Given the description of an element on the screen output the (x, y) to click on. 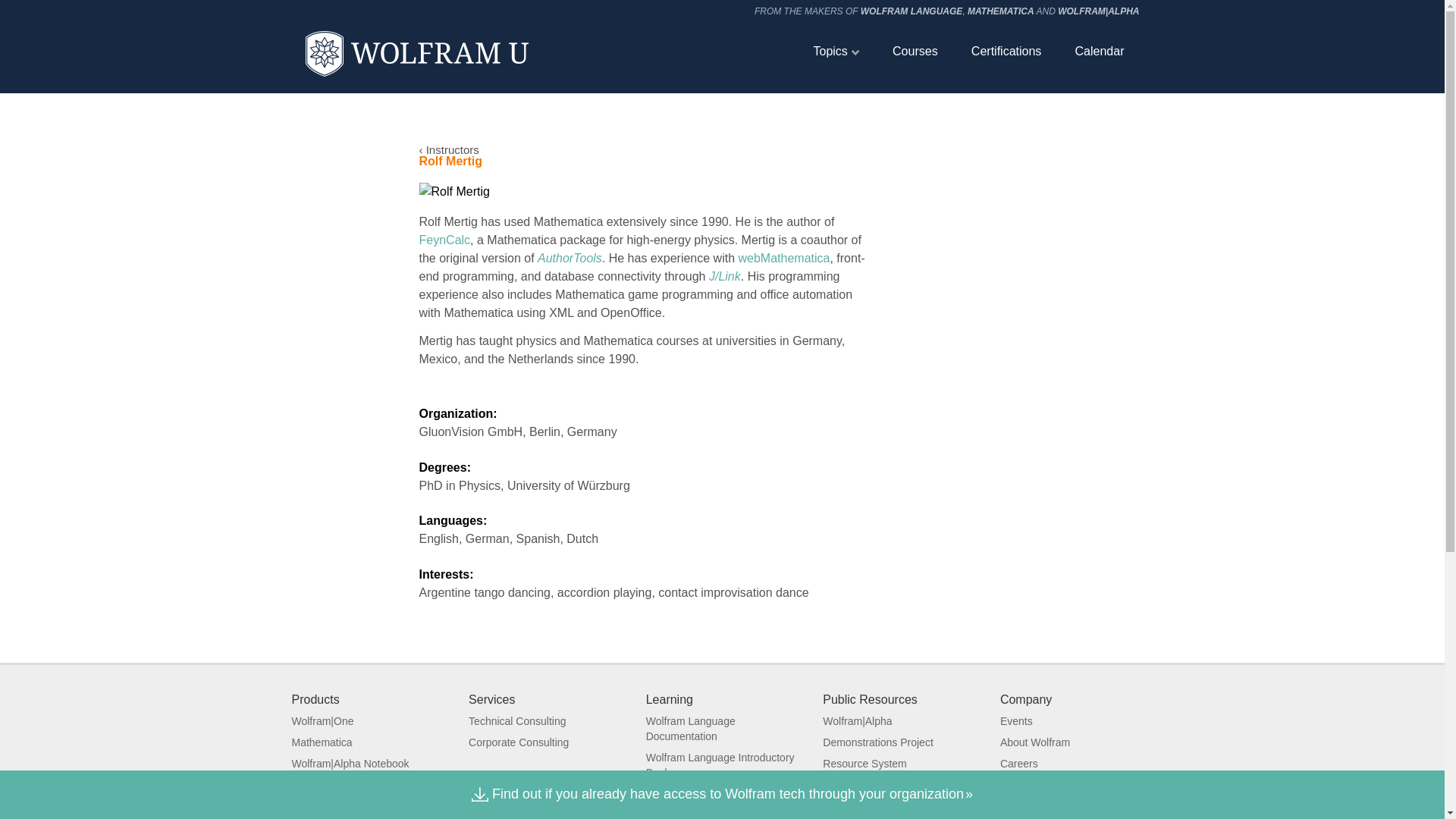
Certifications (1006, 51)
FeynCalc (444, 239)
Mobile Apps (320, 816)
AuthorTools (569, 257)
webMathematica (783, 257)
Topics (835, 51)
Rolf Mertig (454, 191)
Courses (914, 51)
WOLFRAM LANGUAGE (911, 10)
MATHEMATICA (1000, 10)
Calendar (1099, 51)
Mathematica (321, 742)
